Given the description of an element on the screen output the (x, y) to click on. 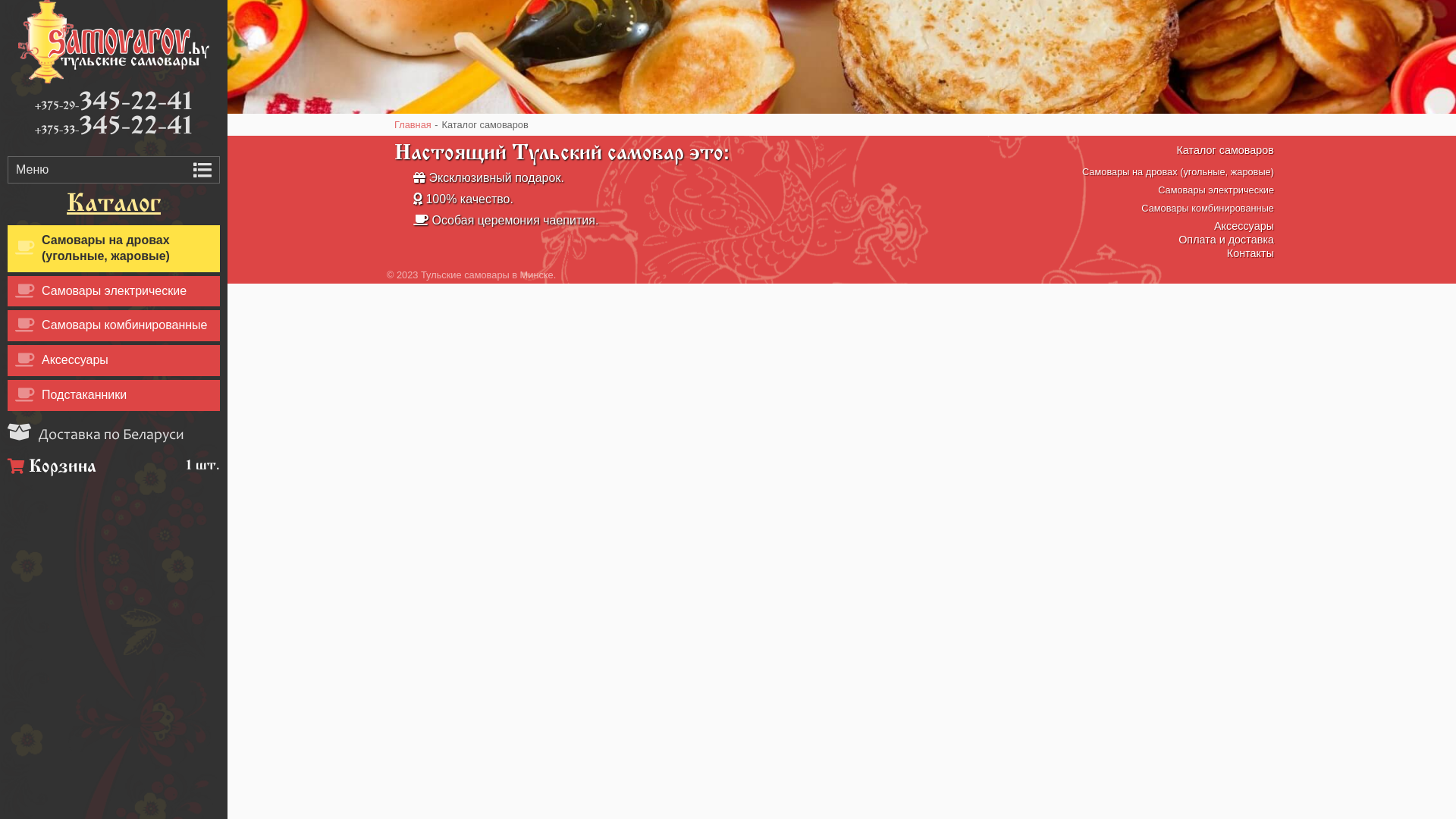
+375-33-345-22-41 Element type: text (113, 127)
+375-29-345-22-41 Element type: text (113, 103)
